Given the description of an element on the screen output the (x, y) to click on. 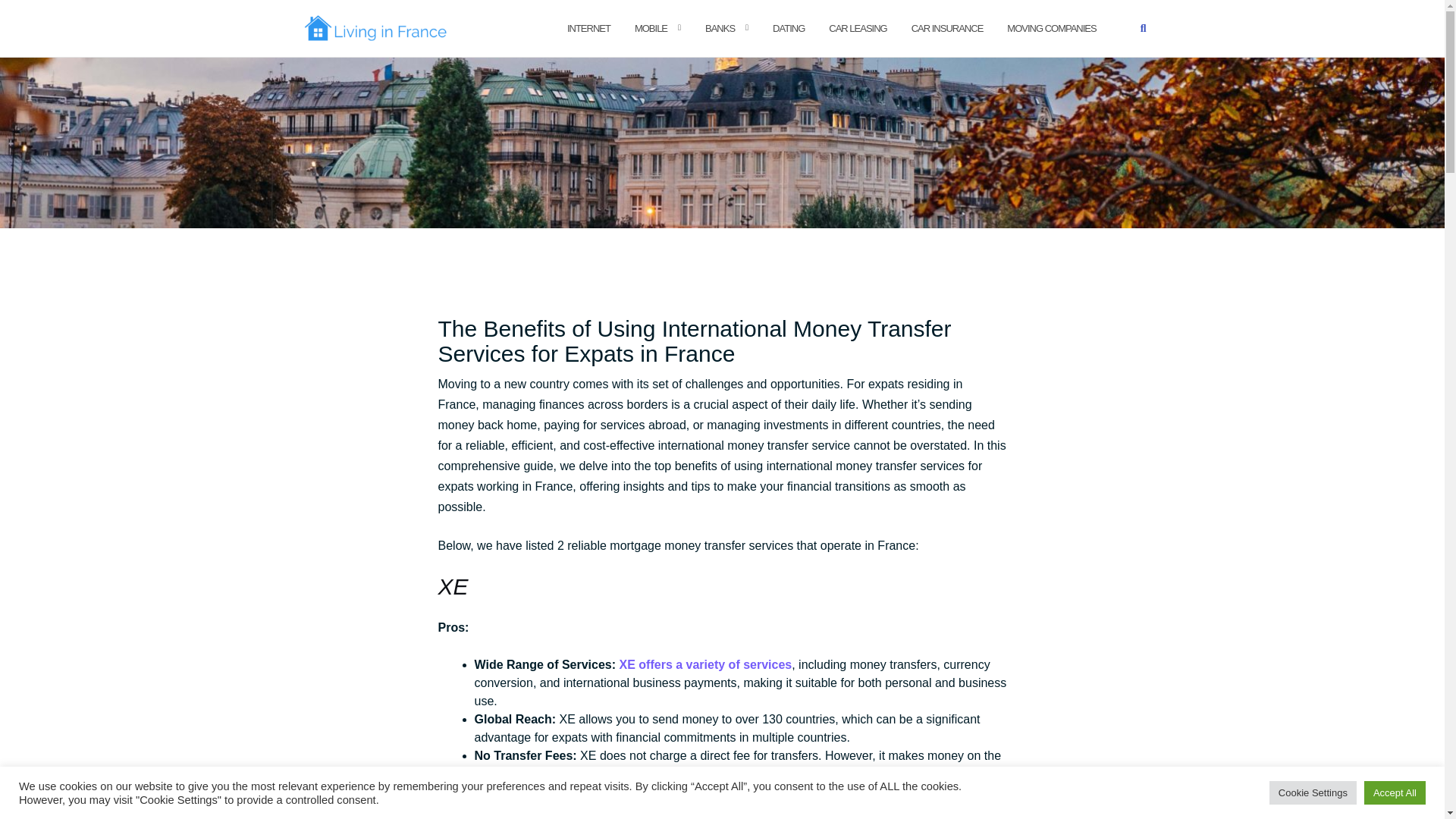
Accept All (1394, 792)
Internet (588, 28)
Car insurance (947, 28)
XE offers a variety of services (706, 664)
MOVING COMPANIES (1051, 28)
INTERNET (588, 28)
CAR INSURANCE (947, 28)
Moving companies (1051, 28)
CAR LEASING (857, 28)
Cookie Settings (1312, 792)
Car Leasing (857, 28)
